Given the description of an element on the screen output the (x, y) to click on. 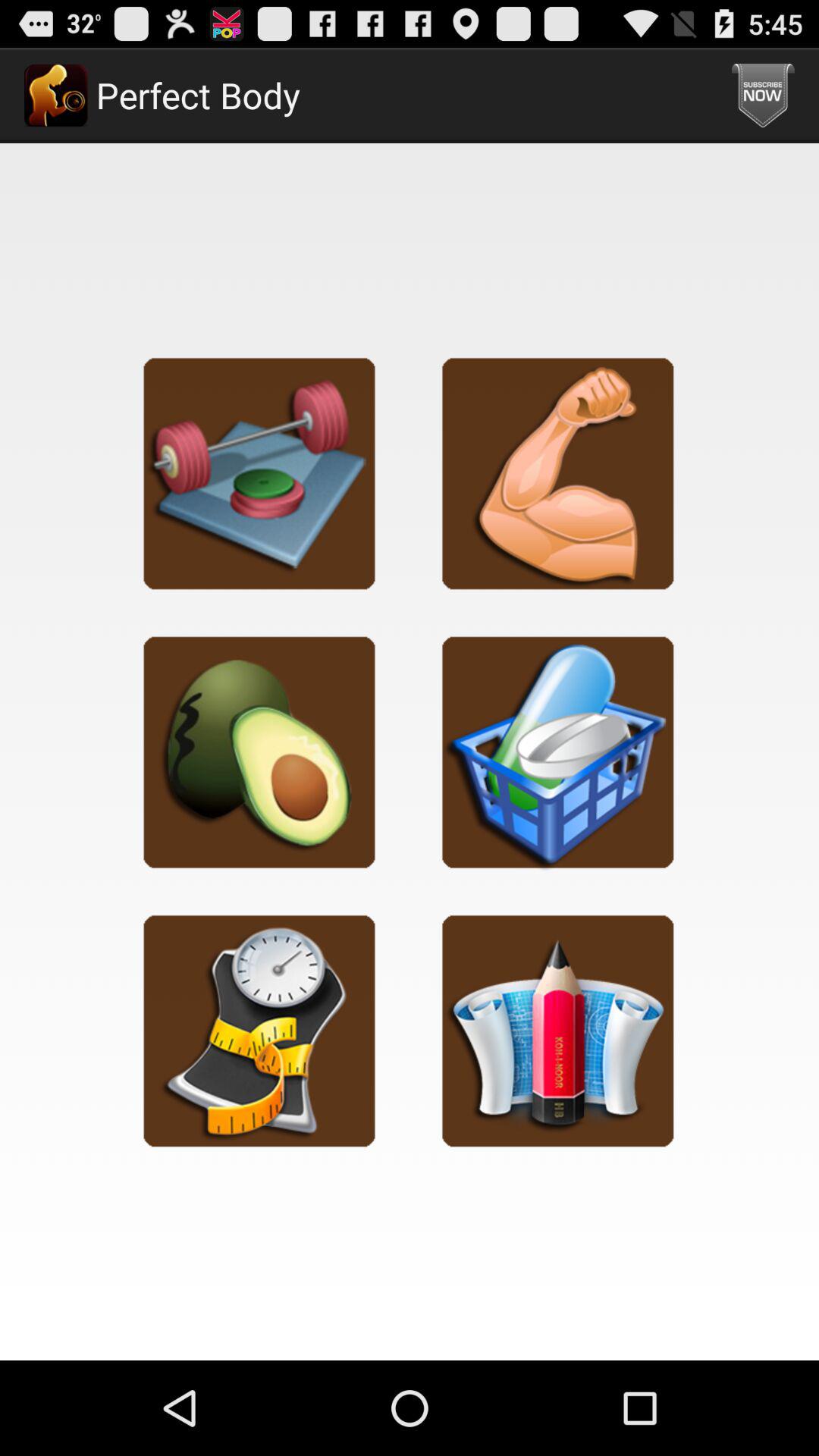
notepad (558, 1030)
